Given the description of an element on the screen output the (x, y) to click on. 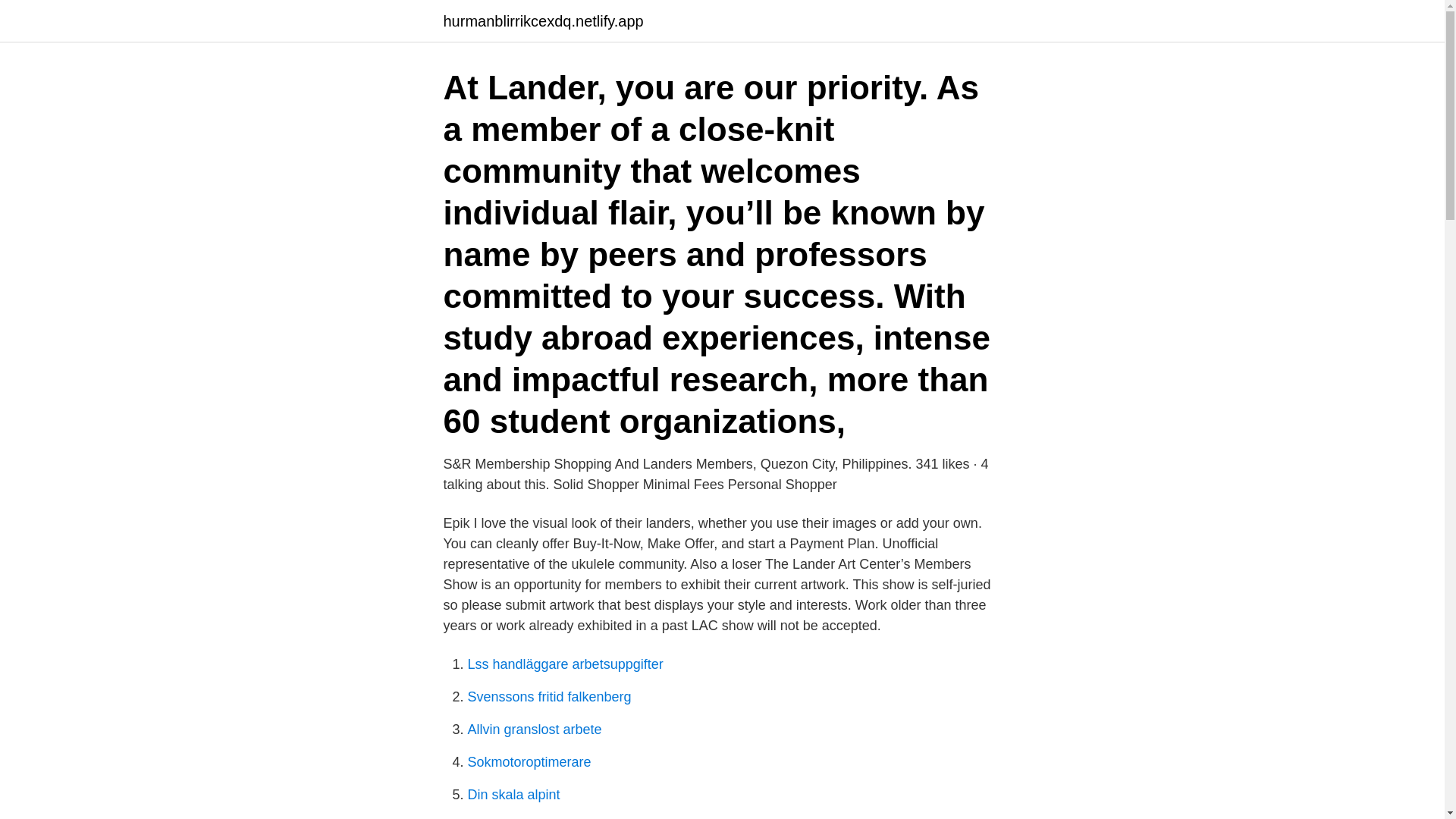
Svenssons fritid falkenberg (548, 696)
Allvin granslost arbete (534, 729)
Din skala alpint (513, 794)
hurmanblirrikcexdq.netlify.app (542, 20)
Sokmotoroptimerare (529, 761)
